Given the description of an element on the screen output the (x, y) to click on. 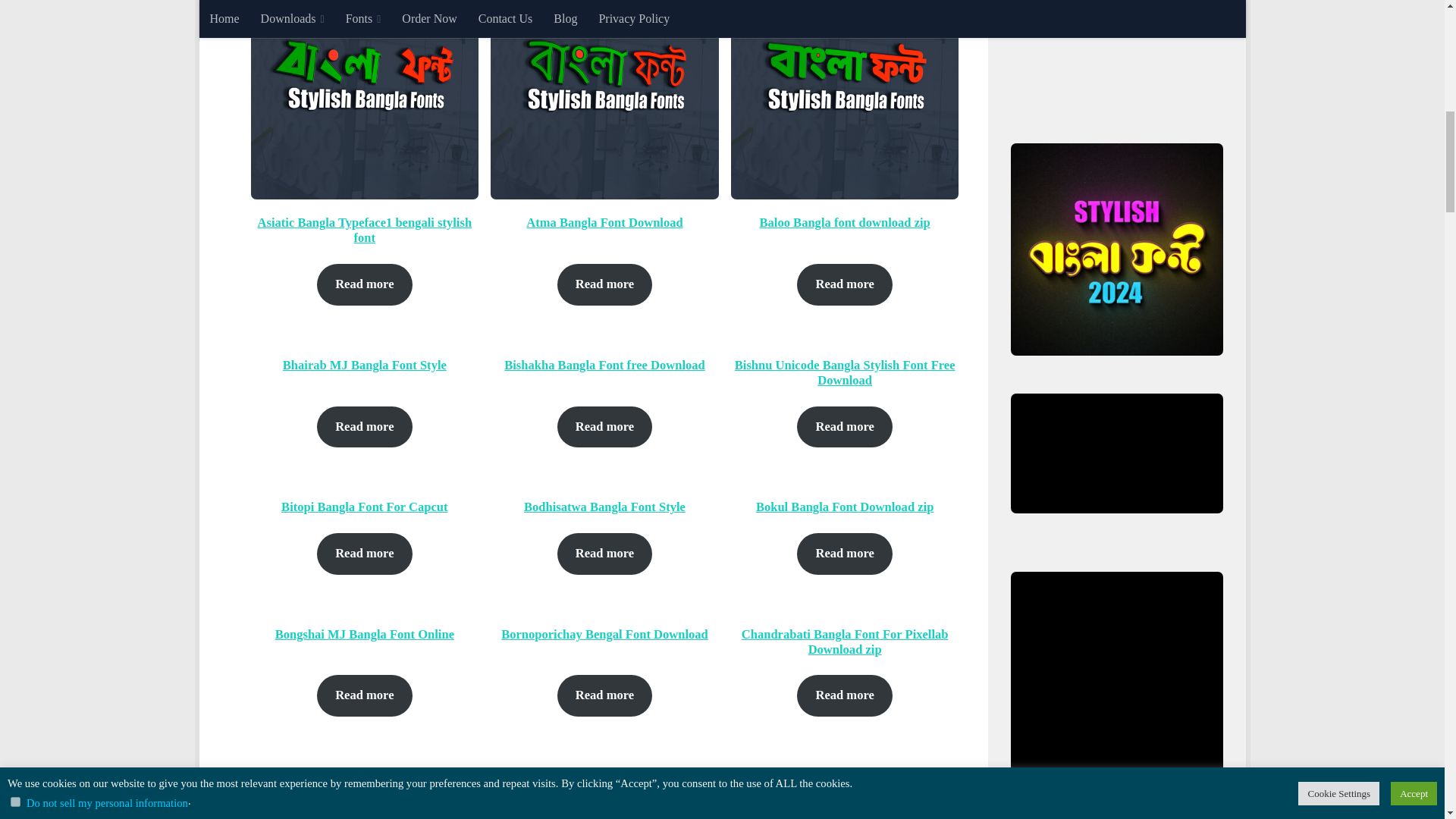
Advertisement (1123, 52)
